Given the description of an element on the screen output the (x, y) to click on. 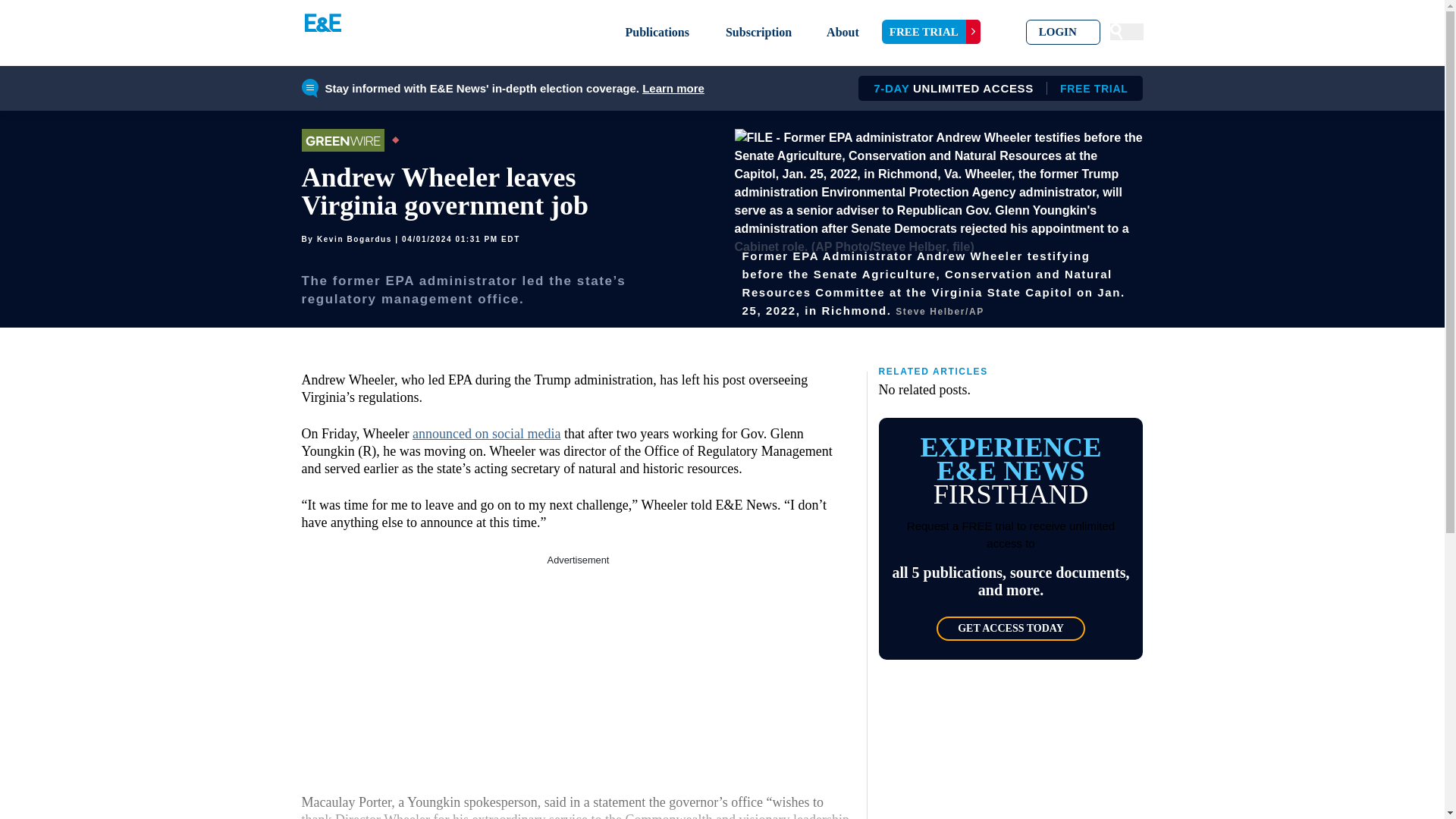
announced on social media (486, 433)
LOGIN (1063, 32)
About (994, 88)
3rd party ad content (843, 32)
GET ACCESS TODAY (577, 662)
Subscription (1010, 628)
Skip to primary navigation (758, 32)
FREE TRIAL (673, 88)
Publications (930, 31)
